Given the description of an element on the screen output the (x, y) to click on. 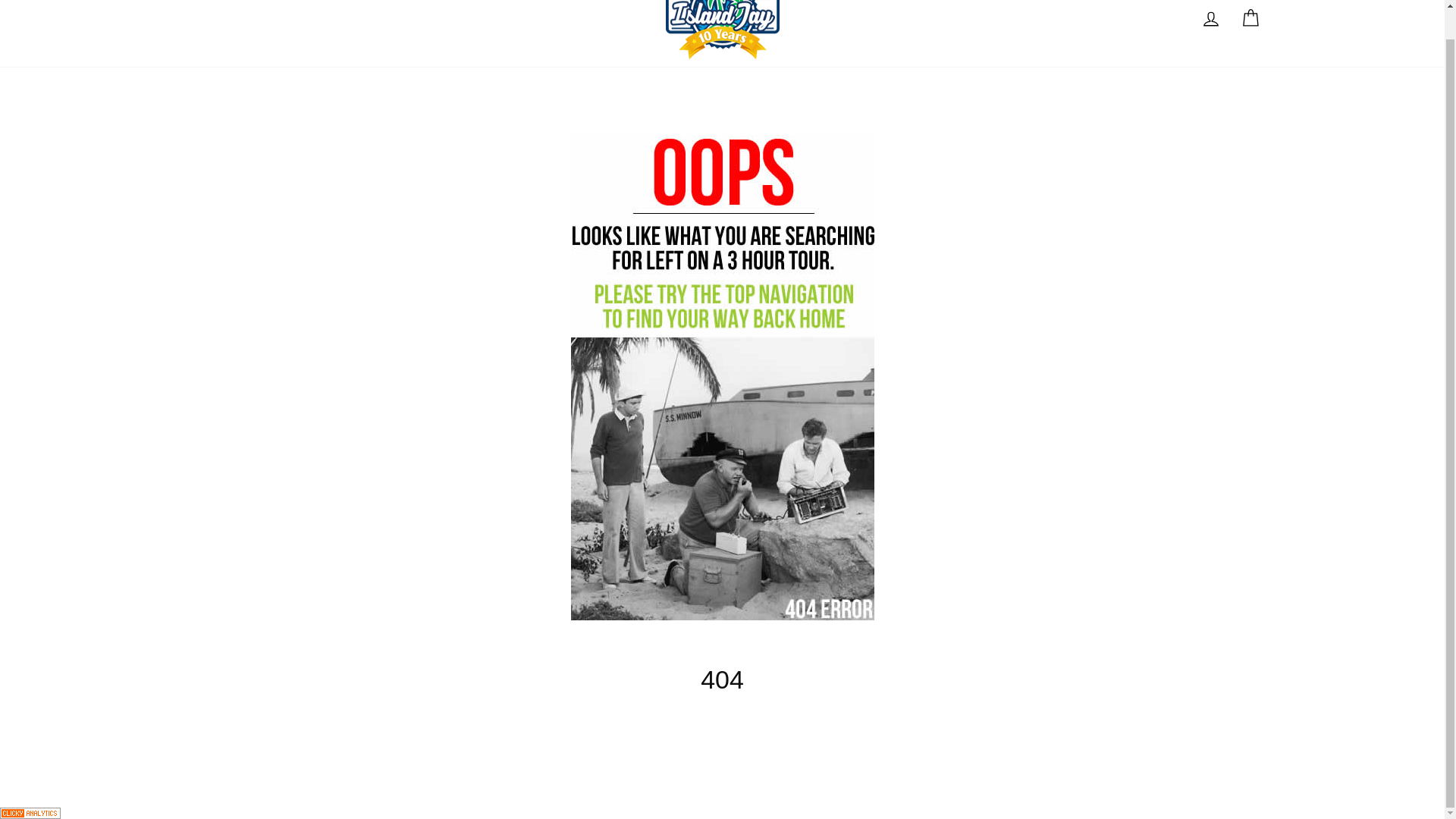
Cart (1210, 17)
account (1249, 17)
